Given the description of an element on the screen output the (x, y) to click on. 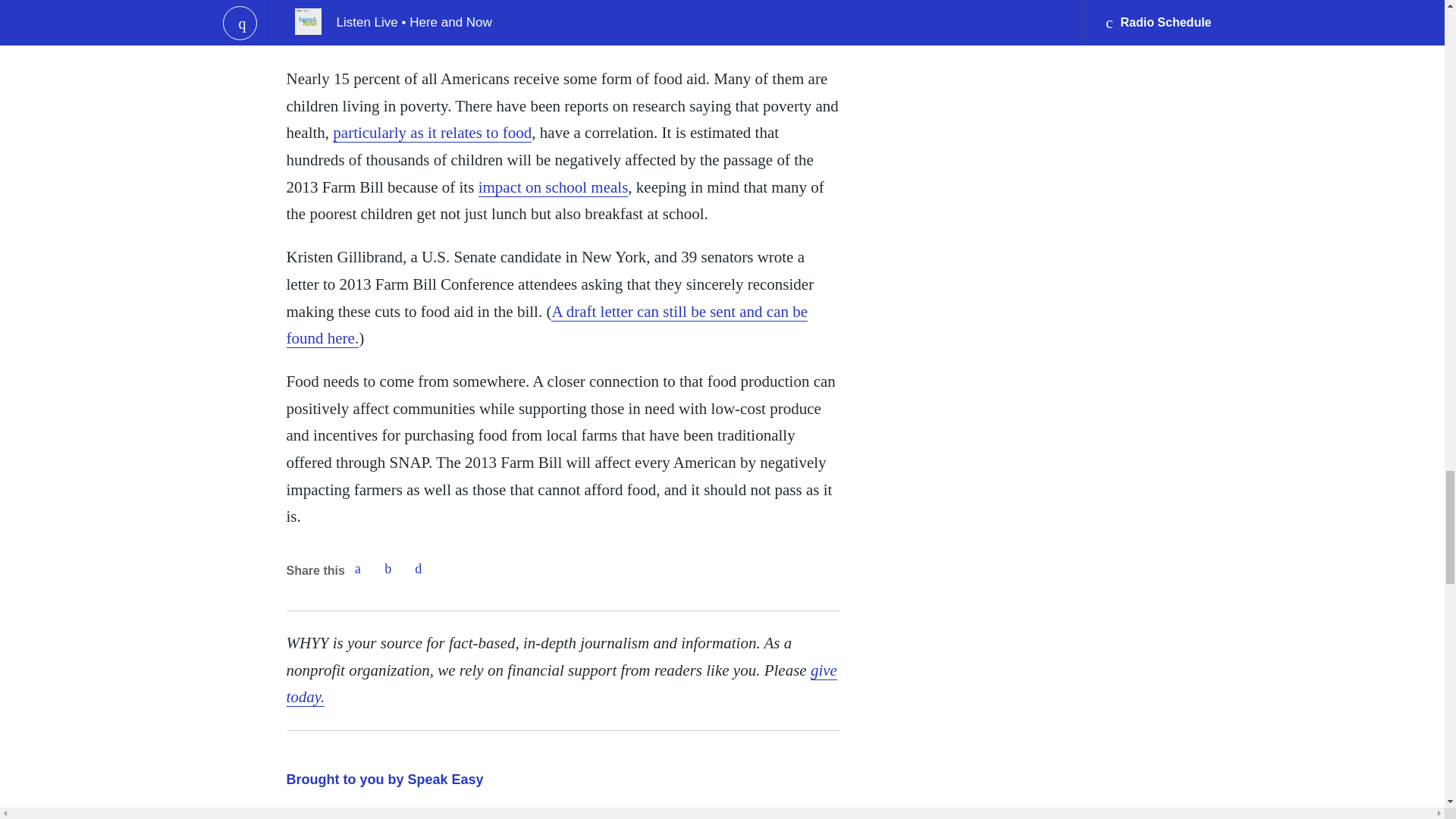
Email (418, 568)
Twitter (387, 568)
Facebook (357, 568)
